Given the description of an element on the screen output the (x, y) to click on. 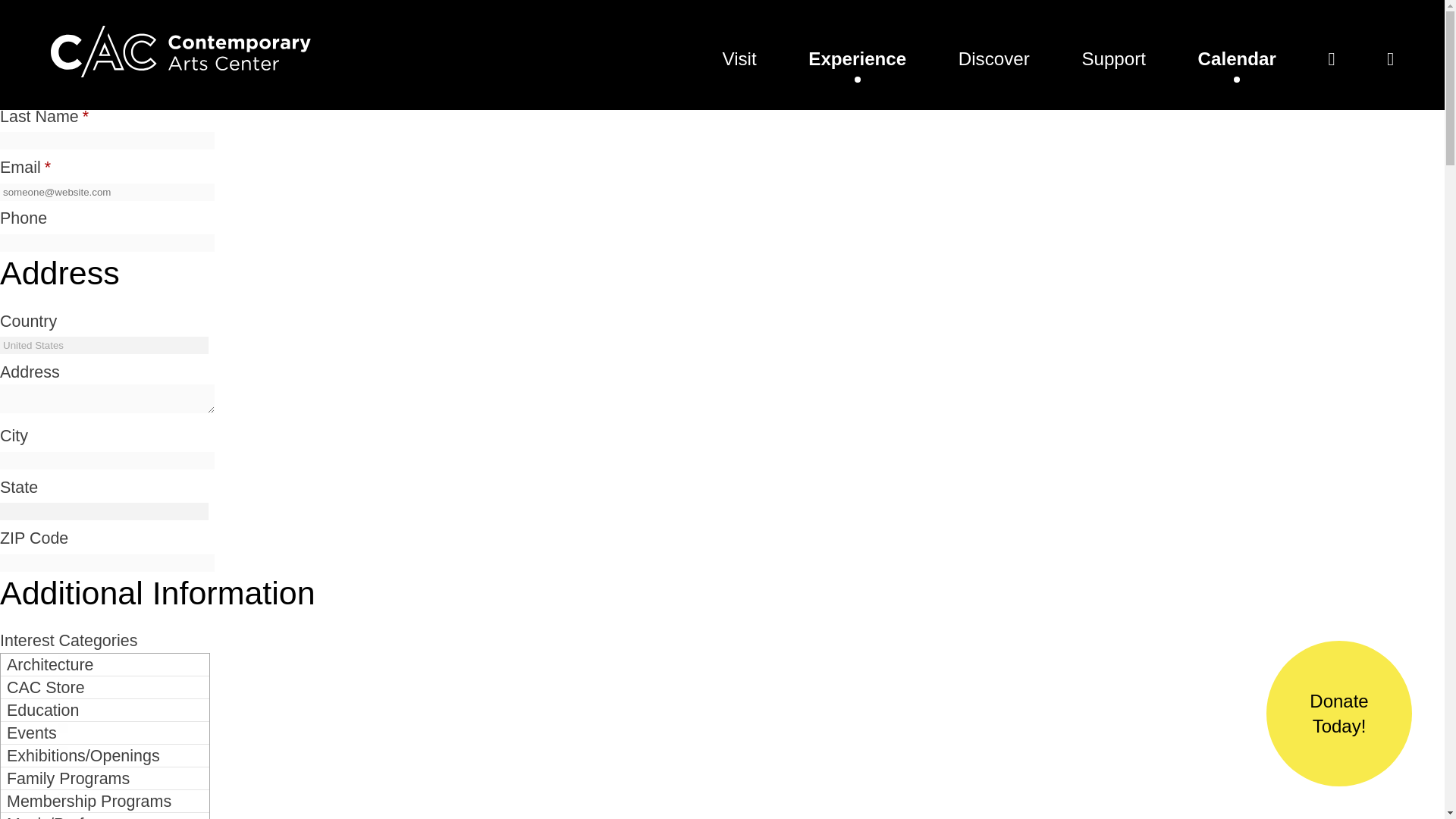
19516 (81, 660)
19517 (81, 682)
19521 (81, 773)
19523 (81, 816)
Family Programs (105, 778)
Visit (738, 58)
Architecture (105, 664)
Events (105, 732)
Experience (856, 58)
Discover (993, 58)
19520 (81, 750)
Calendar (1237, 58)
Education (105, 710)
19518 (81, 705)
Membership Programs (105, 801)
